Given the description of an element on the screen output the (x, y) to click on. 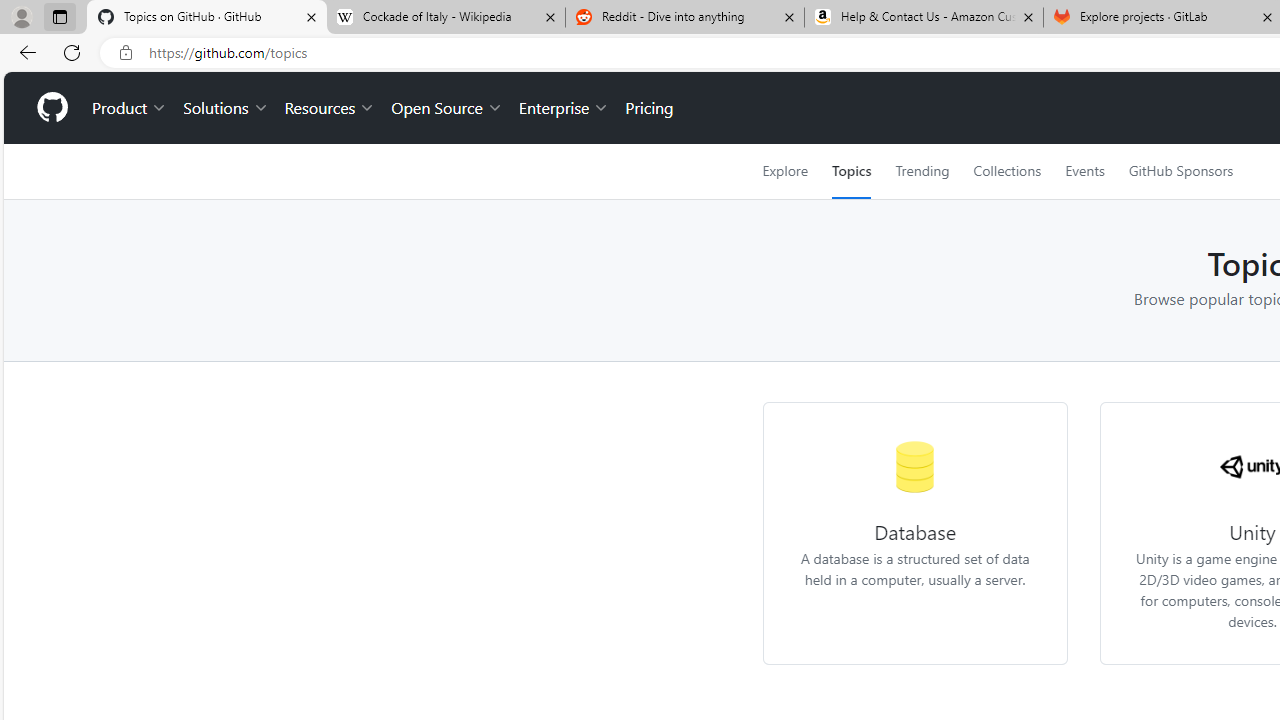
Enterprise (563, 107)
Product (130, 107)
Topics (851, 171)
Explore (784, 171)
Trending (921, 171)
Homepage (51, 107)
Solutions (225, 107)
Pricing (649, 107)
Open Source (446, 107)
Resources (330, 107)
